Given the description of an element on the screen output the (x, y) to click on. 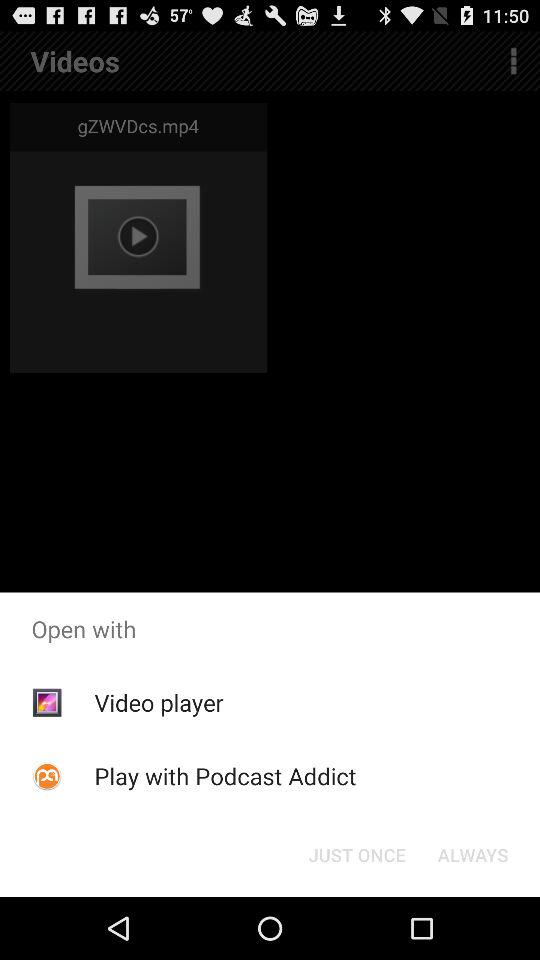
turn off button next to the always icon (356, 854)
